Given the description of an element on the screen output the (x, y) to click on. 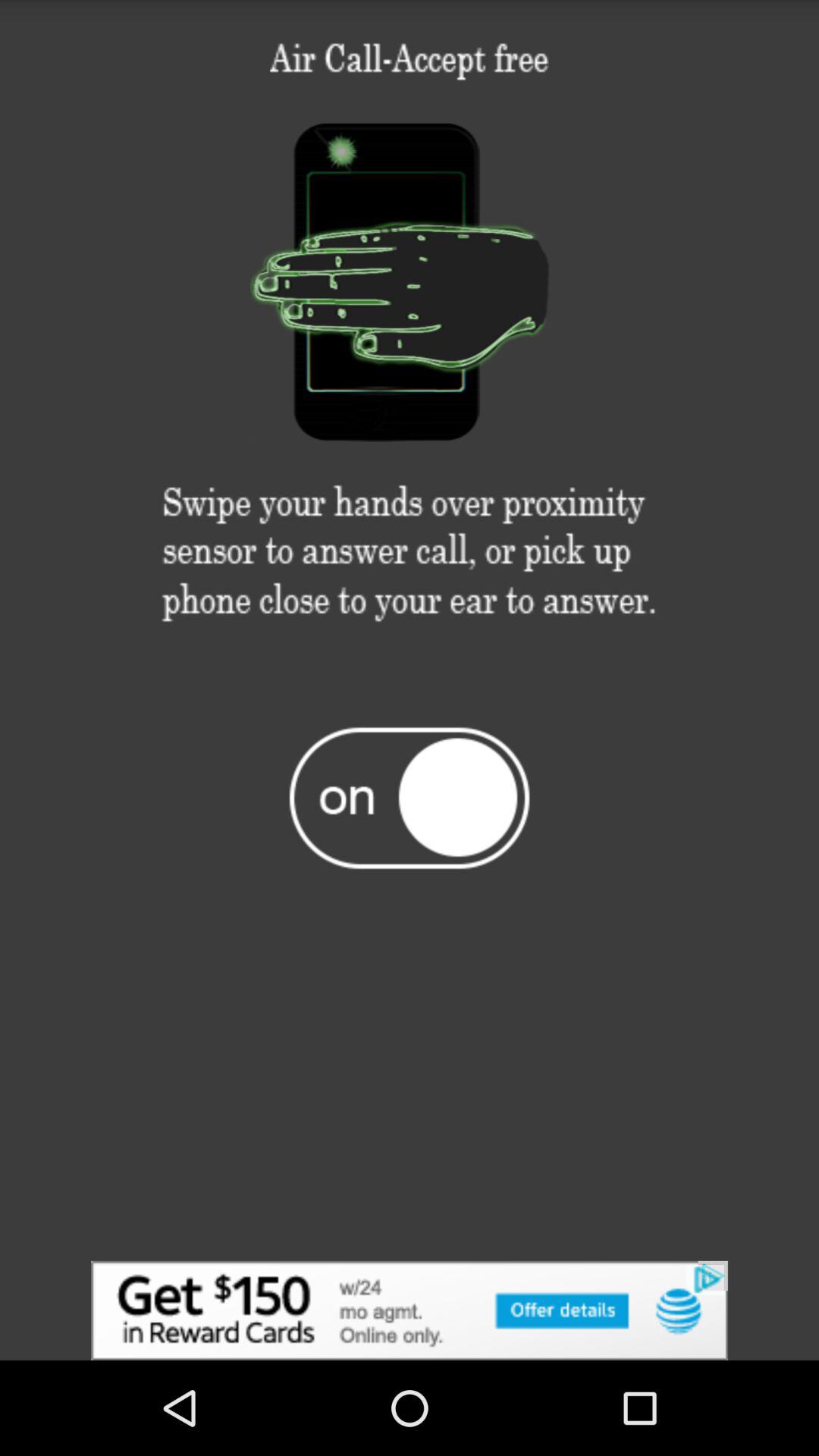
on/off control (409, 796)
